Given the description of an element on the screen output the (x, y) to click on. 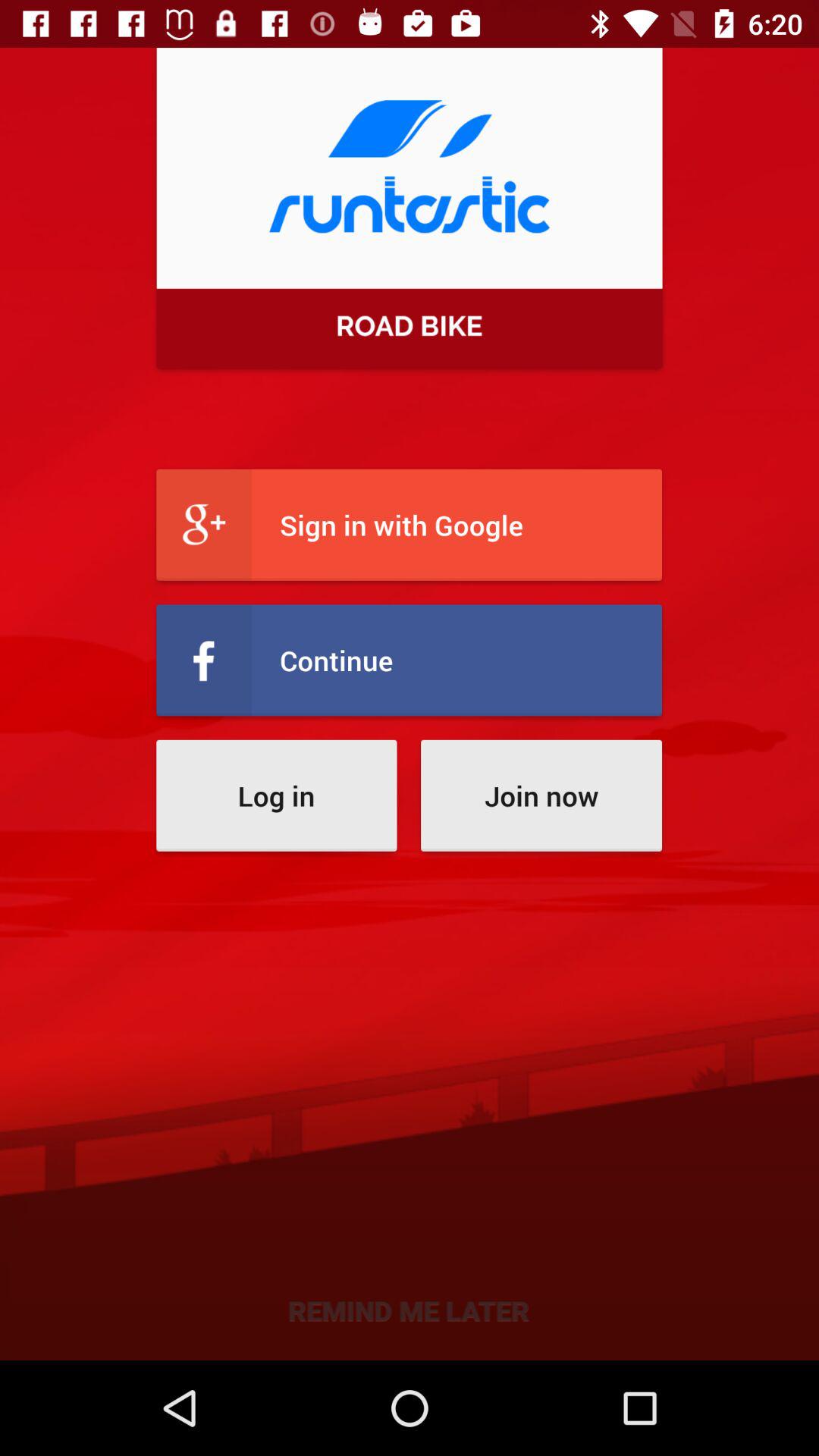
launch join now item (541, 795)
